Given the description of an element on the screen output the (x, y) to click on. 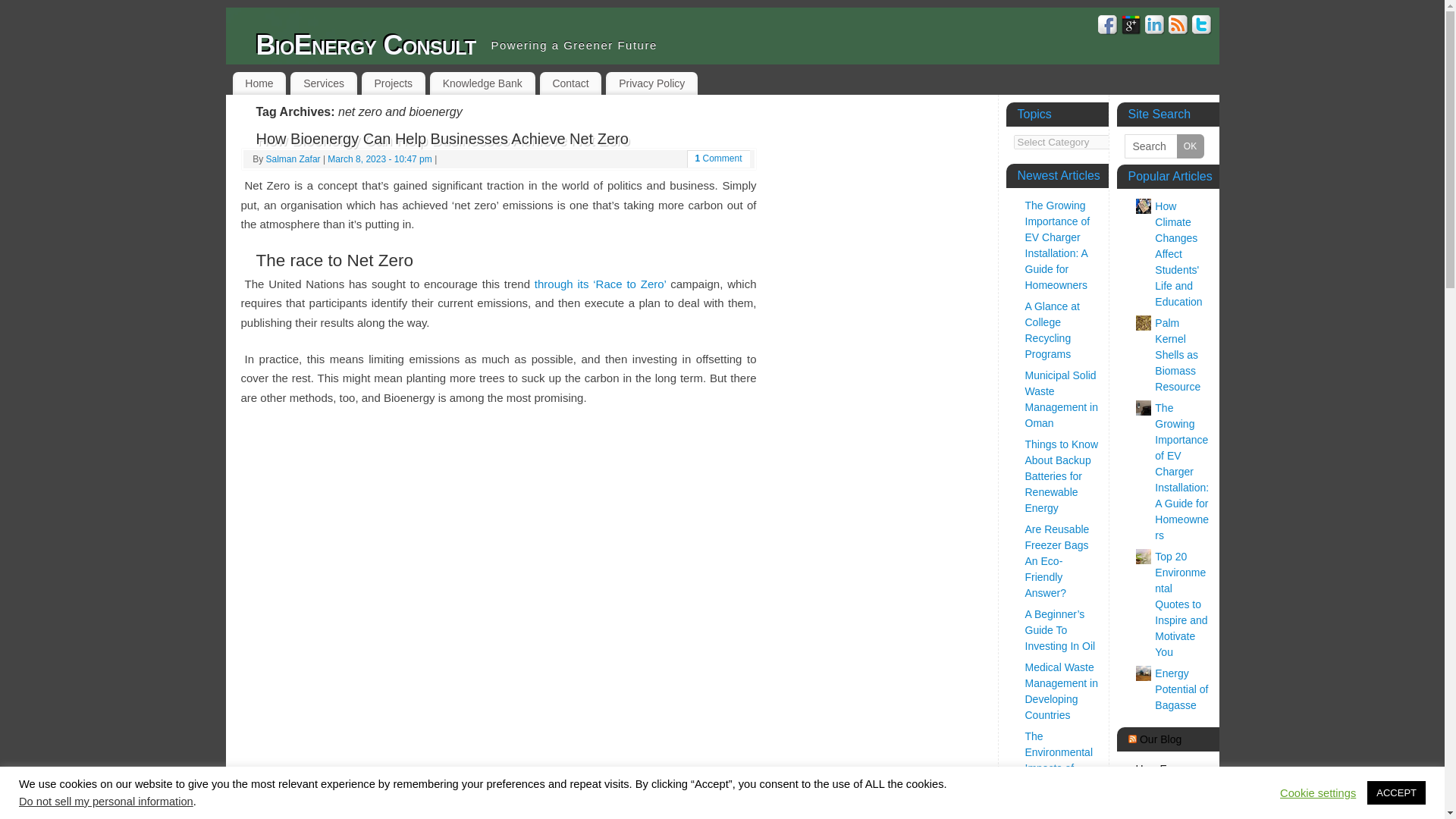
View all posts by Salman Zafar (293, 158)
10:47 pm (378, 158)
Salman Zafar (293, 158)
Services (322, 83)
BioEnergy Consult (366, 44)
How Bioenergy Can Help Businesses Achieve Net Zero (442, 138)
Privacy Policy (651, 83)
Search (1164, 146)
OK (1190, 146)
March 8, 2023 - 10:47 pm (378, 158)
